Given the description of an element on the screen output the (x, y) to click on. 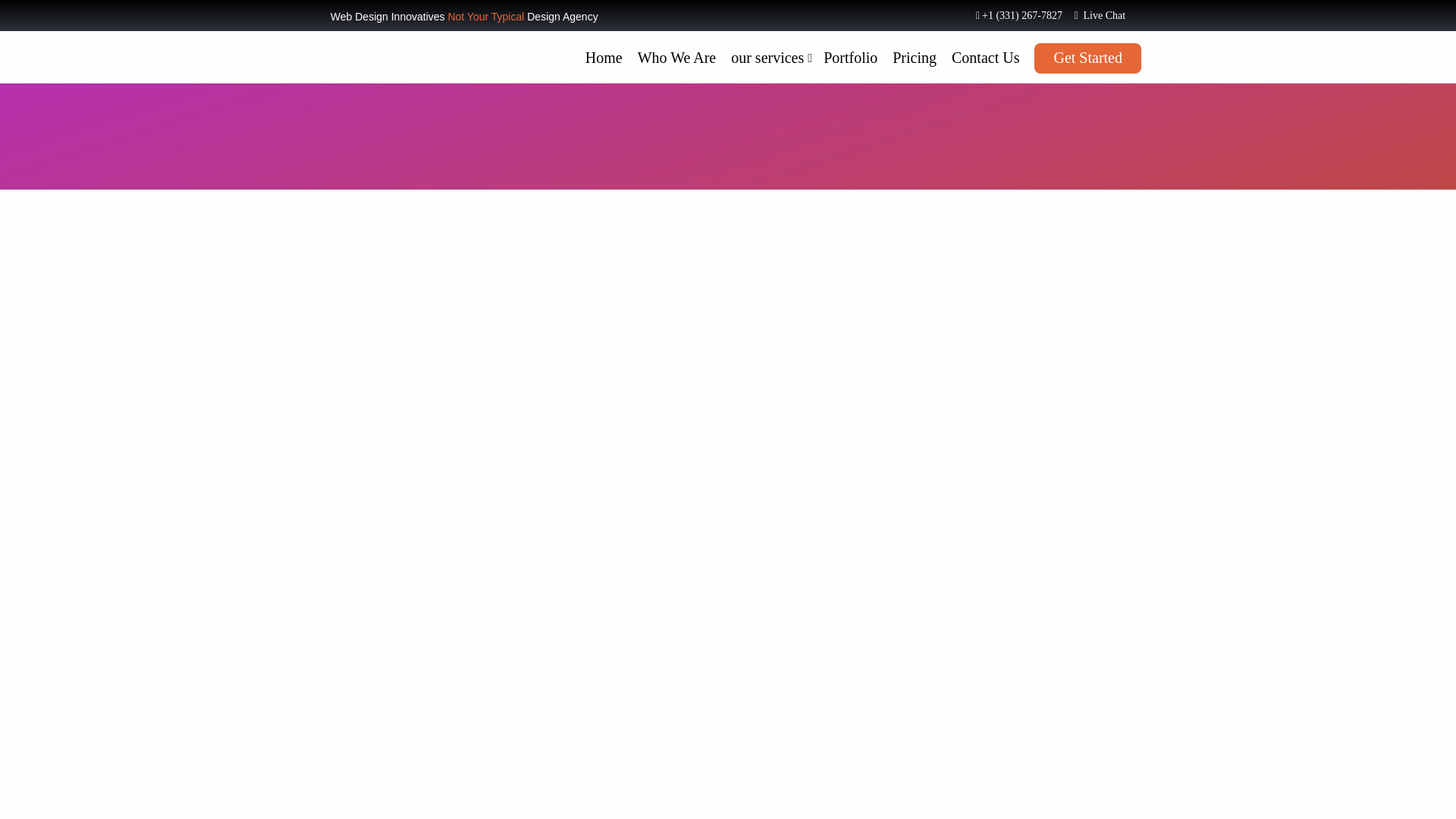
Who We Are (676, 58)
Home (604, 58)
our services (766, 58)
Live Chat (1093, 16)
